Given the description of an element on the screen output the (x, y) to click on. 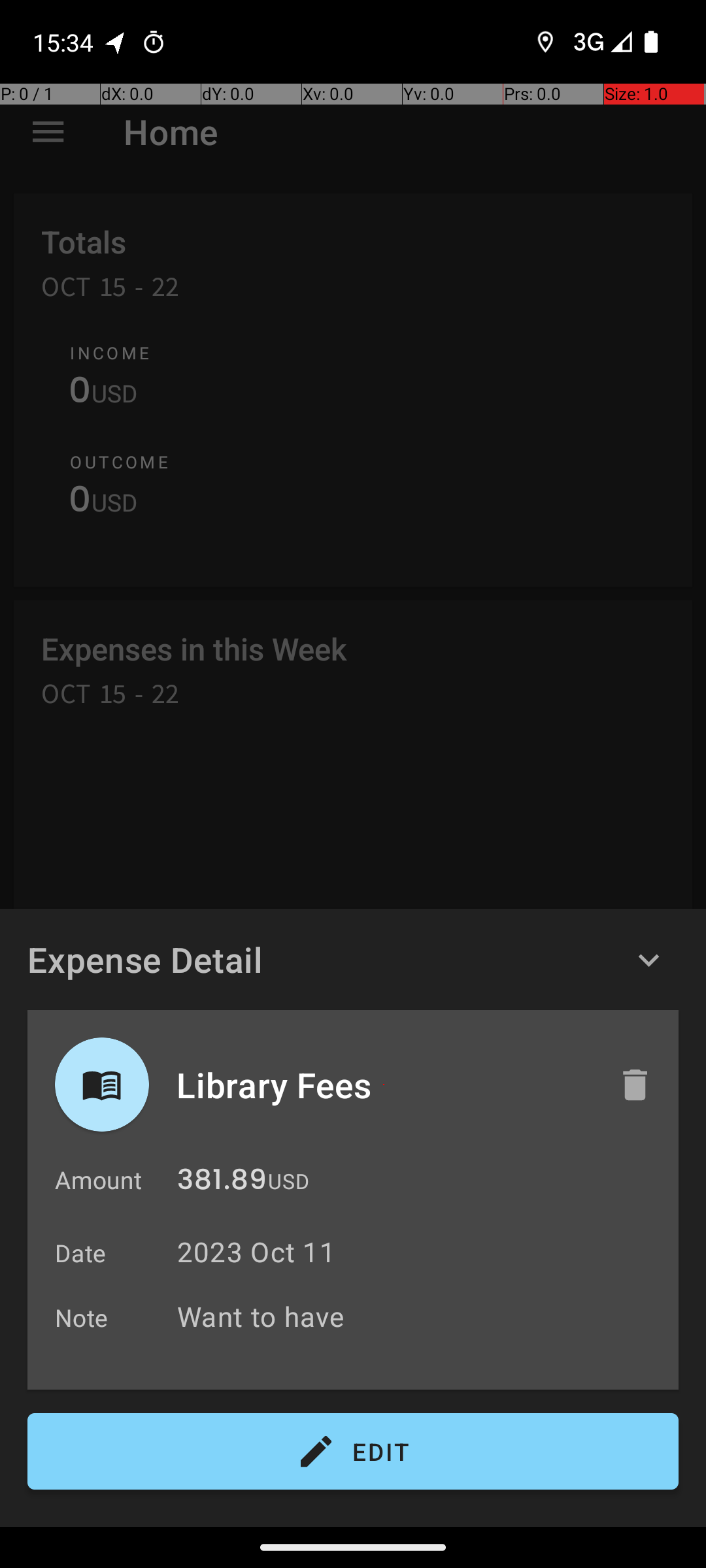
381.89 Element type: android.widget.TextView (221, 1182)
